Given the description of an element on the screen output the (x, y) to click on. 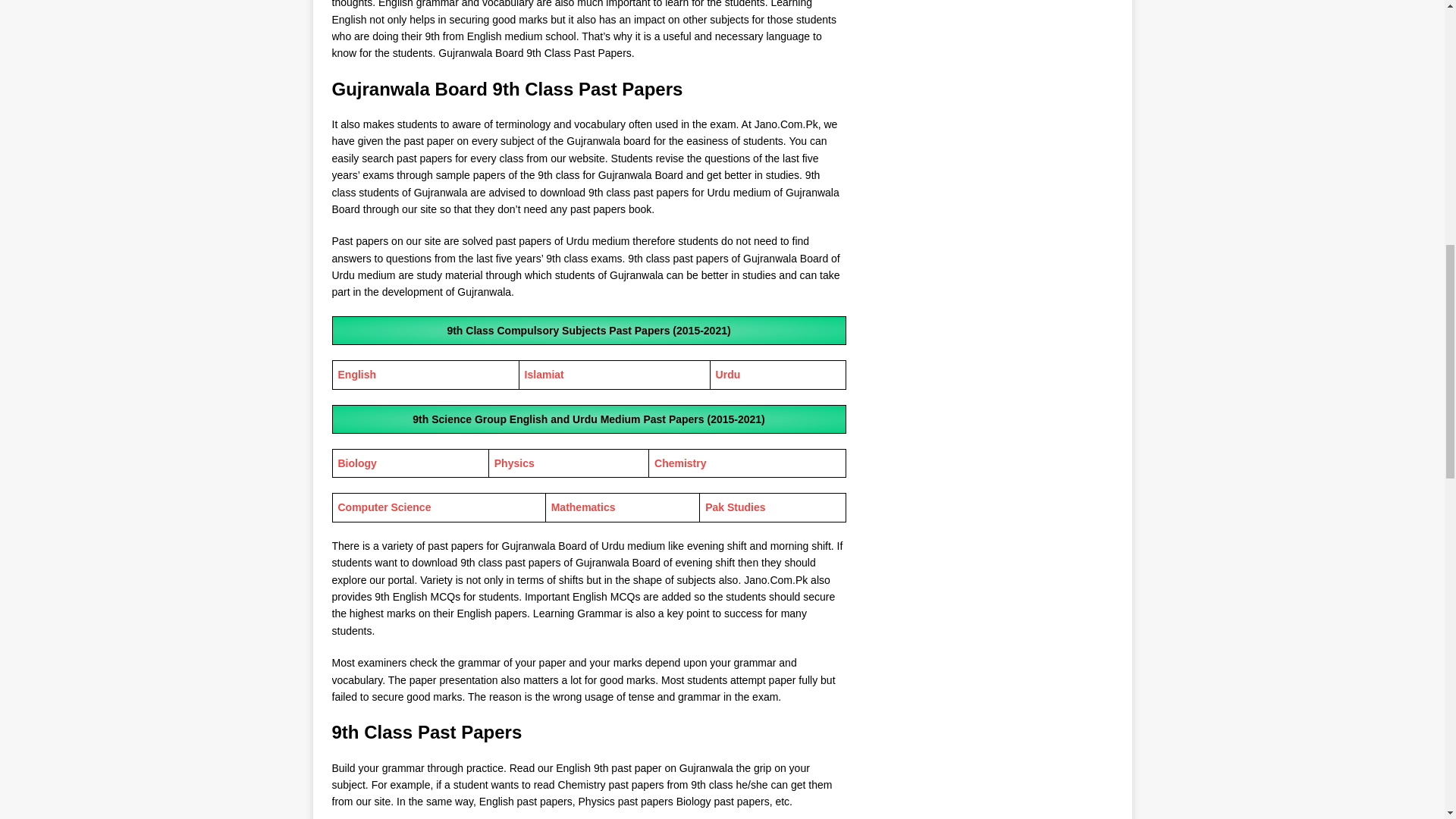
Islamiat (544, 374)
Physics (514, 463)
Computer Science (383, 507)
Mathematics (583, 507)
Pak Studies (734, 507)
Biology (357, 463)
Urdu (728, 374)
Chemistry (679, 463)
English (357, 374)
